Given the description of an element on the screen output the (x, y) to click on. 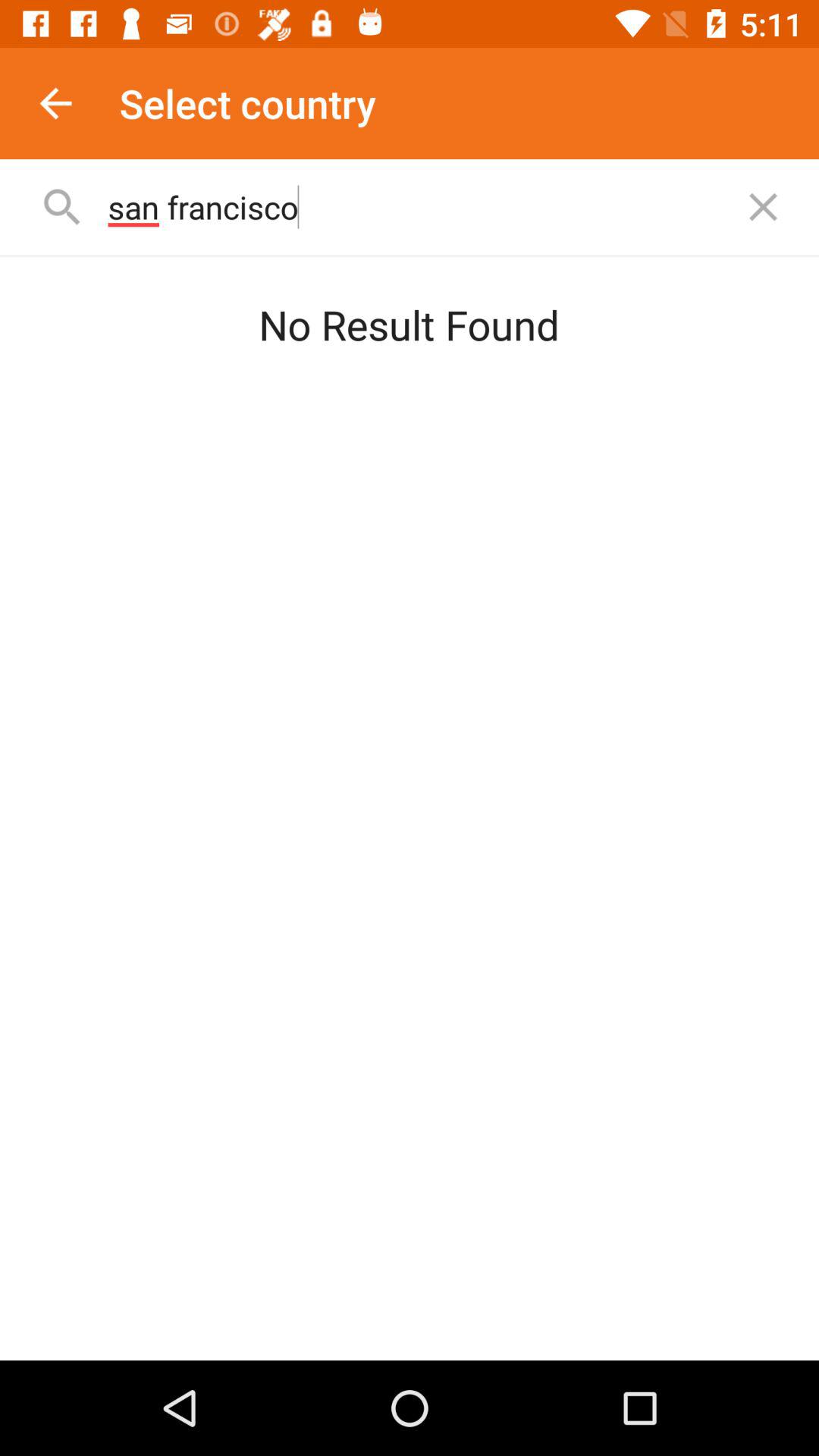
cancel (763, 206)
